Given the description of an element on the screen output the (x, y) to click on. 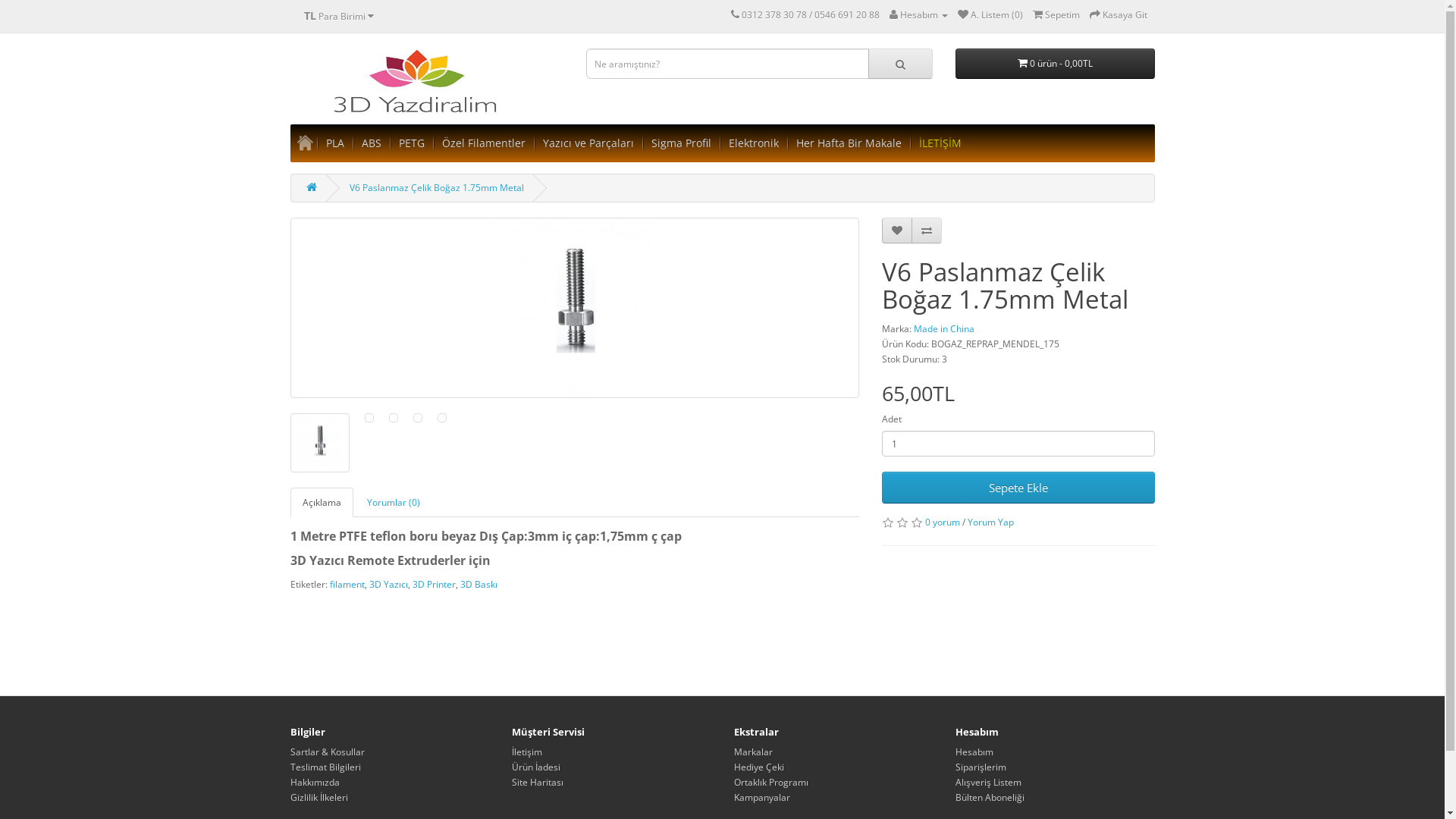
TL Para Birimi Element type: text (338, 15)
  Element type: text (305, 143)
Yorum Yap Element type: text (990, 521)
Markalar Element type: text (753, 751)
Sepete Ekle Element type: text (1017, 487)
Yorumlar (0) Element type: text (393, 502)
ABS Element type: text (370, 143)
A. Listem (0) Element type: text (989, 14)
Made in China Element type: text (943, 328)
Filament Element type: hover (425, 82)
Her Hafta Bir Makale Element type: text (848, 143)
Sigma Profil Element type: text (680, 143)
Sartlar & Kosullar Element type: text (326, 751)
3D Printer Element type: text (433, 583)
Kasaya Git Element type: text (1117, 14)
PETG Element type: text (411, 143)
filament Element type: text (346, 583)
PLA Element type: text (334, 143)
Sepetim Element type: text (1055, 14)
Teslimat Bilgileri Element type: text (324, 766)
0 yorum Element type: text (942, 521)
Elektronik Element type: text (752, 143)
Kampanyalar Element type: text (762, 796)
